Given the description of an element on the screen output the (x, y) to click on. 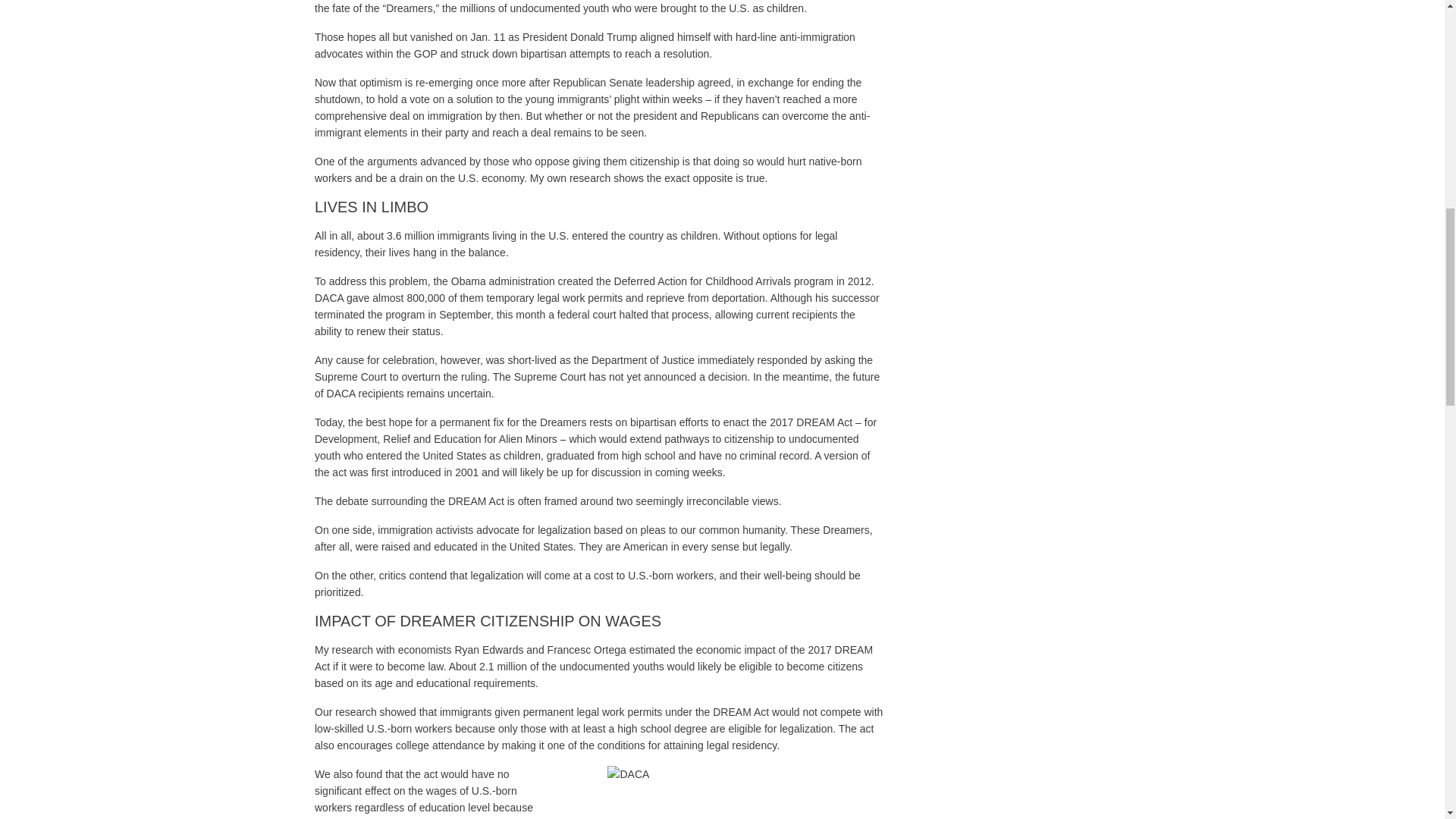
Obama administration created (522, 281)
critics (392, 575)
would likely be eligible (719, 666)
research (351, 649)
federal court halted that process (633, 314)
all but vanished (415, 37)
almost 800,000 of them (427, 297)
3.6 million immigrants (438, 235)
DACA (328, 297)
One of the arguments (365, 161)
first introduced (406, 472)
Dreamers (408, 8)
immigration activists advocate (448, 530)
Deferred Action for Childhood Arrivals (702, 281)
